Given the description of an element on the screen output the (x, y) to click on. 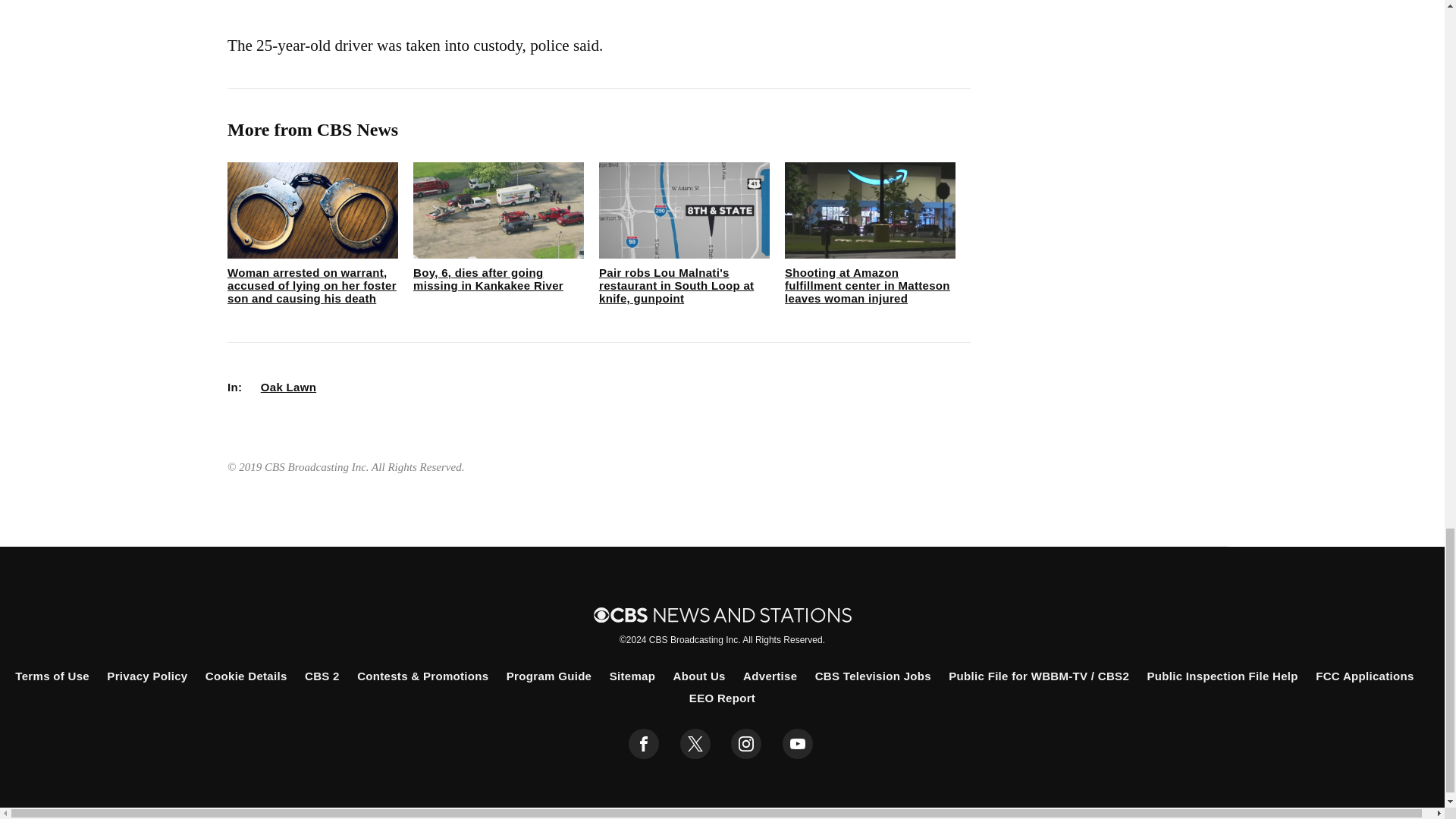
youtube (797, 743)
3rd party ad content (598, 2)
twitter (694, 743)
instagram (745, 743)
facebook (643, 743)
